Given the description of an element on the screen output the (x, y) to click on. 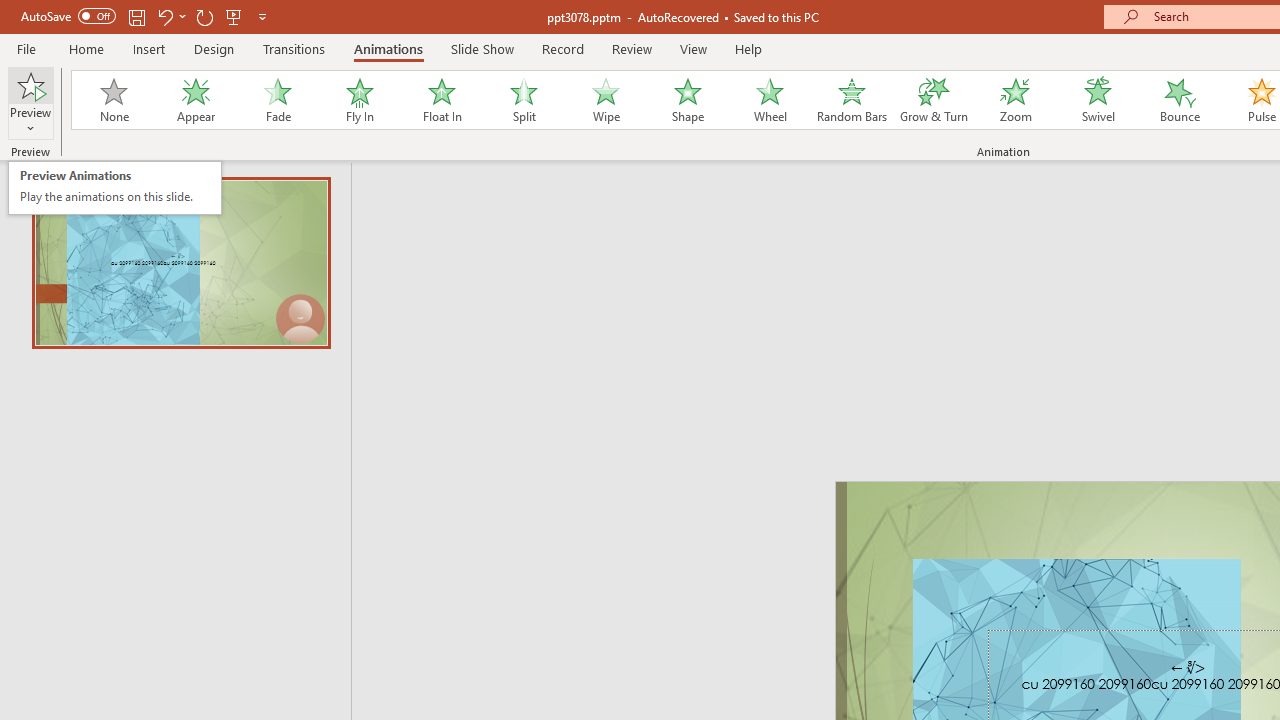
Wipe (605, 100)
Fade (277, 100)
Shape (687, 100)
Appear (195, 100)
Swivel (1098, 100)
